Given the description of an element on the screen output the (x, y) to click on. 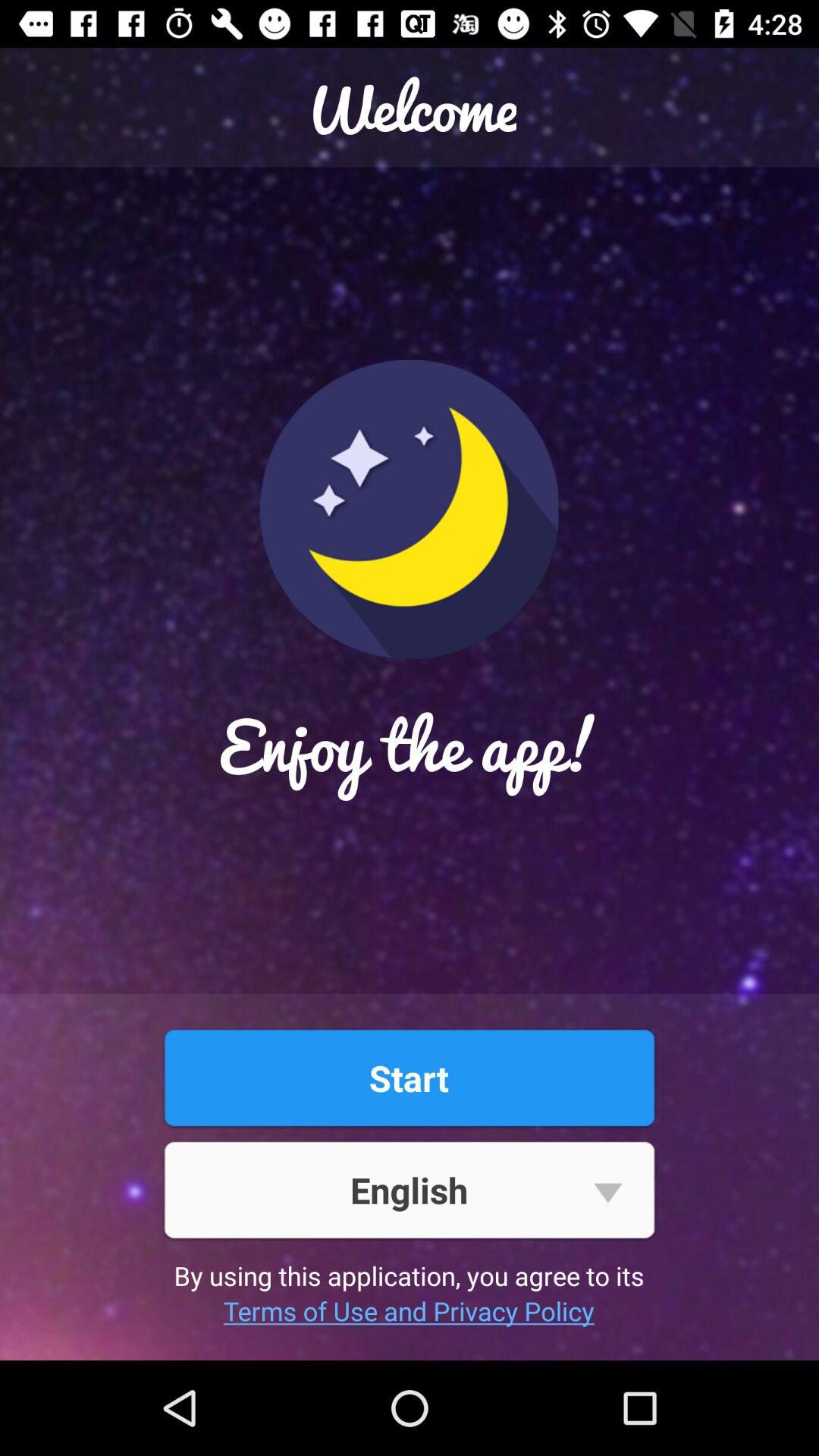
flip until the english button (409, 1190)
